Given the description of an element on the screen output the (x, y) to click on. 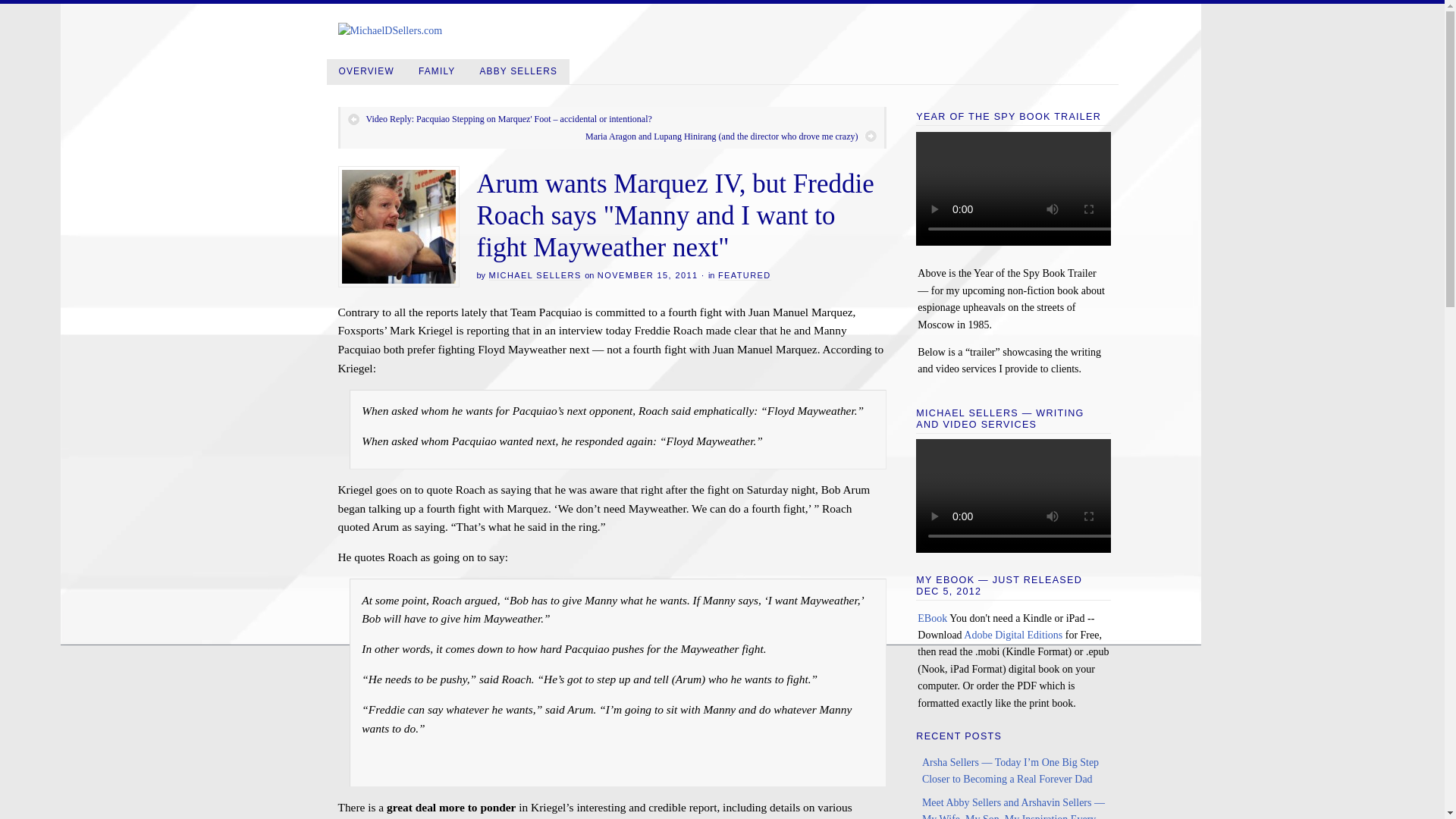
EBook (932, 618)
OVERVIEW (366, 71)
MICHAEL SELLERS (534, 275)
2011-11-15T18:28:27-0700 (647, 275)
Adobe Digital Editions (1012, 634)
Posts by Michael Sellers (534, 275)
MichaelDSellers.com (389, 30)
FAMILY (436, 71)
FEATURED (744, 275)
ABBY SELLERS (518, 71)
